Given the description of an element on the screen output the (x, y) to click on. 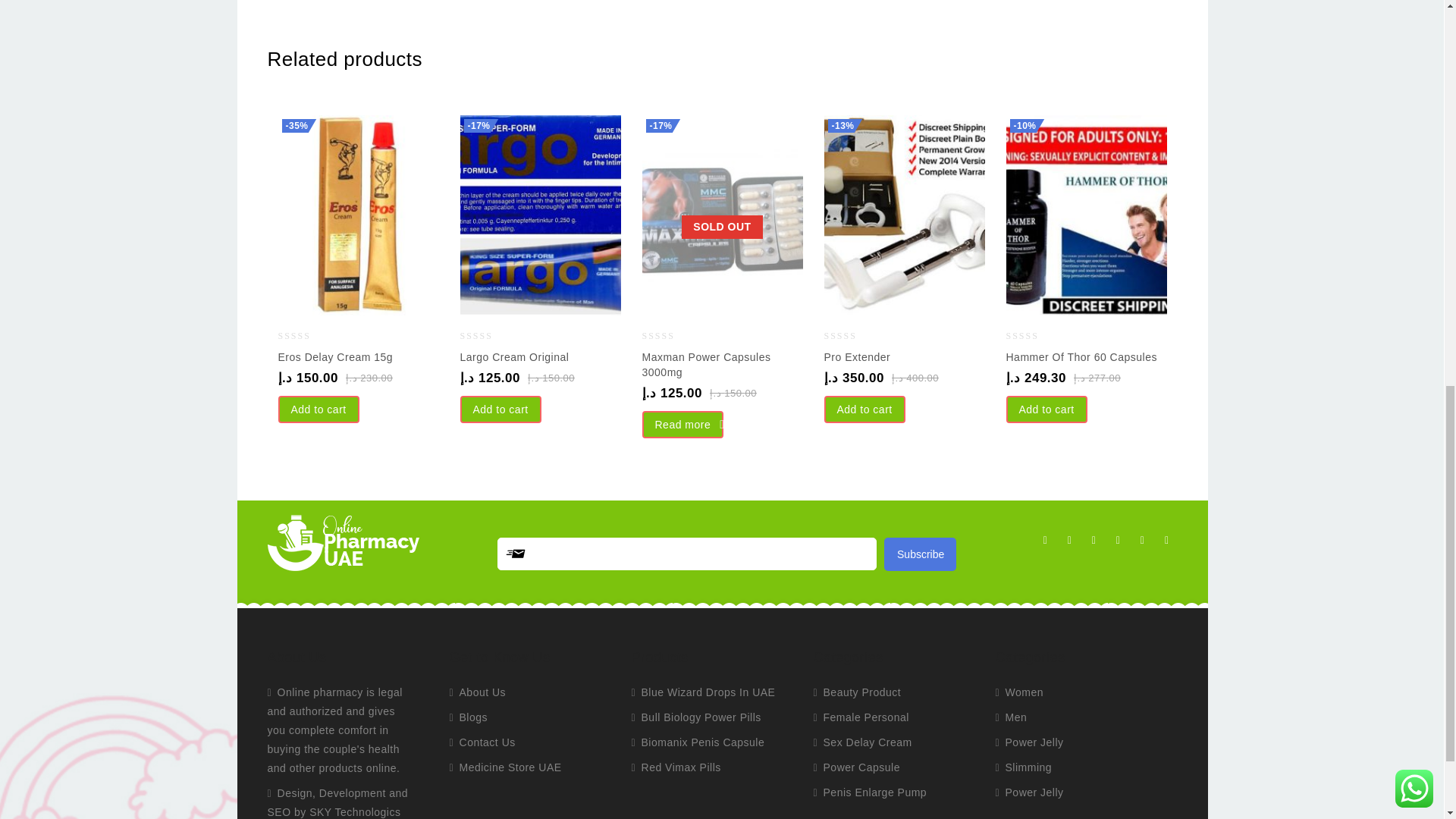
Not yet rated (307, 335)
Subscribe (919, 553)
